Given the description of an element on the screen output the (x, y) to click on. 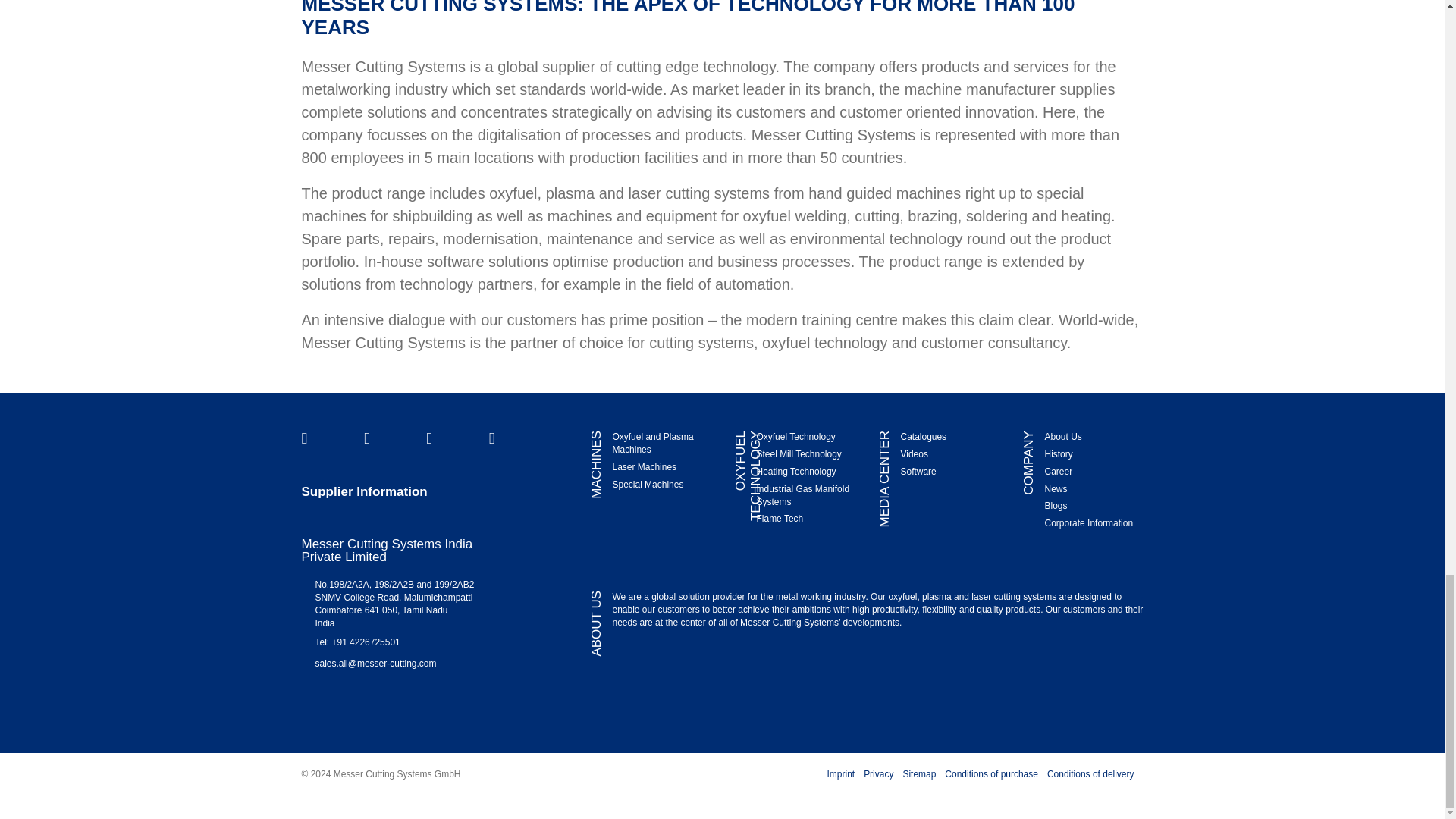
Special Machines (646, 484)
Steel Mill Technology (798, 453)
Oxyfuel and Plasma Machines (652, 443)
Heating Technology (795, 471)
Supplier Information (364, 491)
Laser Machines (644, 466)
Oxyfuel Technology (794, 436)
